Given the description of an element on the screen output the (x, y) to click on. 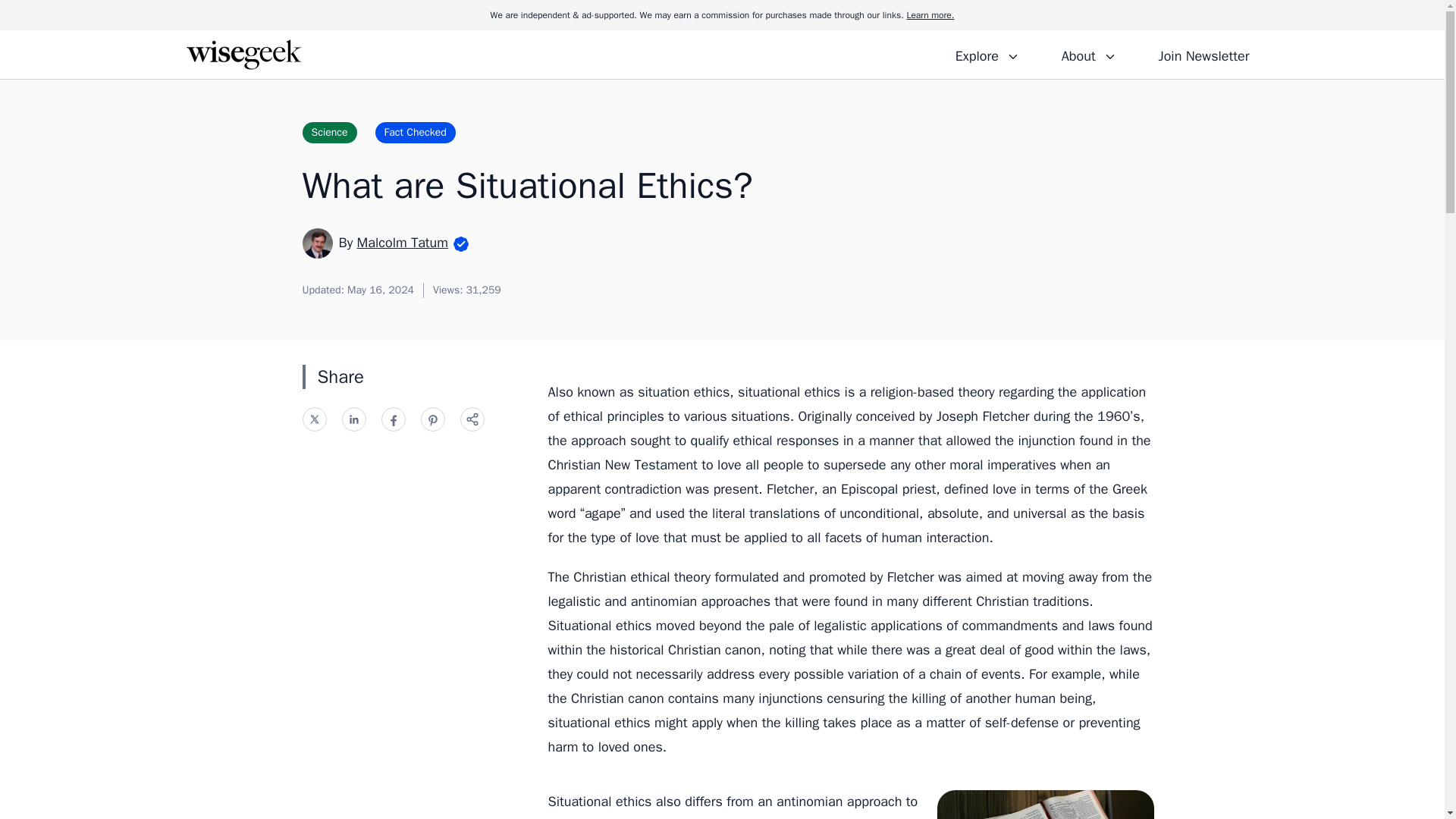
Fact Checked (415, 132)
Join Newsletter (1202, 54)
Science (328, 132)
About (1088, 54)
Malcolm Tatum (402, 242)
Explore (986, 54)
Learn more. (929, 15)
